Given the description of an element on the screen output the (x, y) to click on. 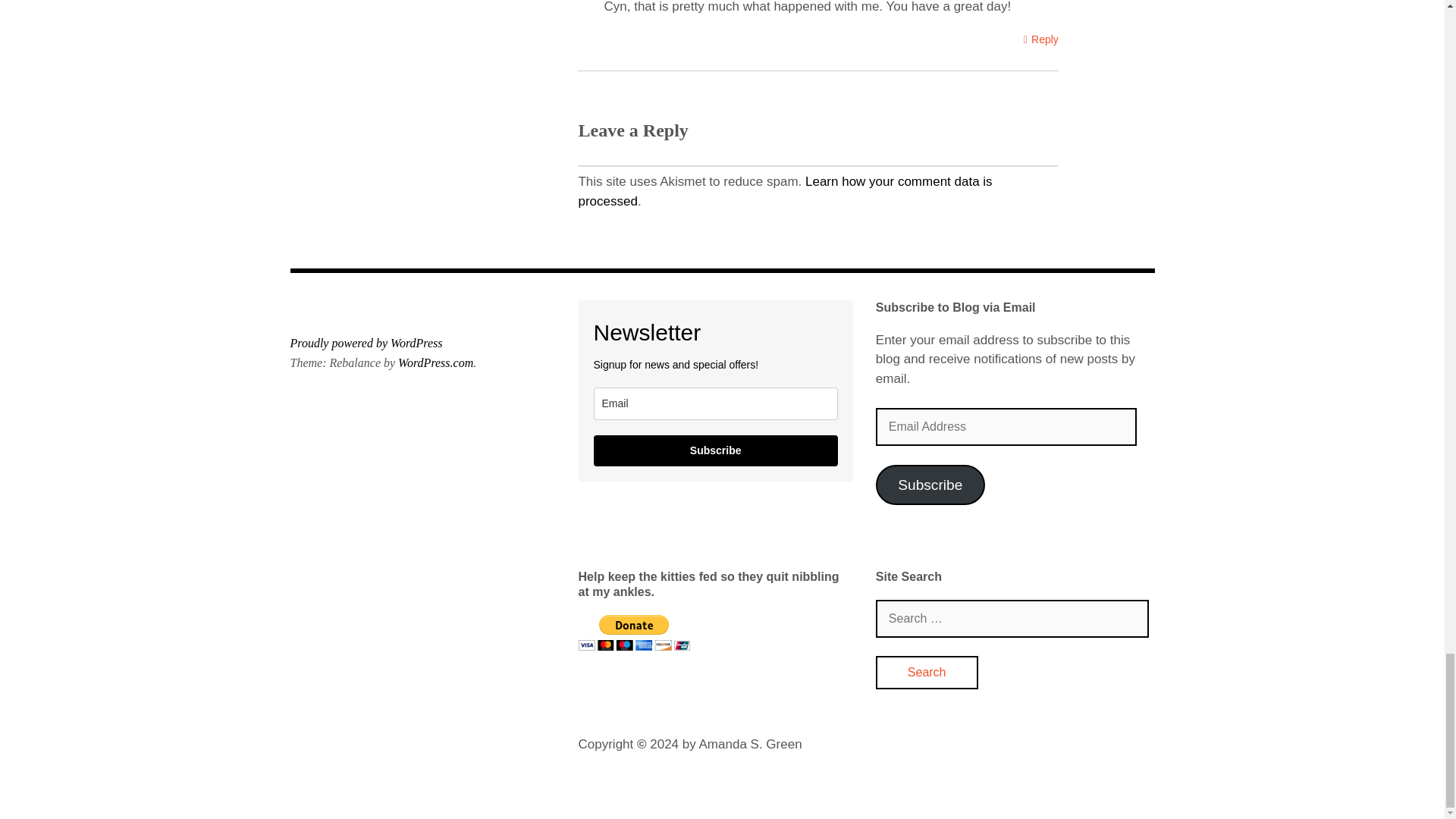
Search (927, 672)
Search (927, 672)
